Given the description of an element on the screen output the (x, y) to click on. 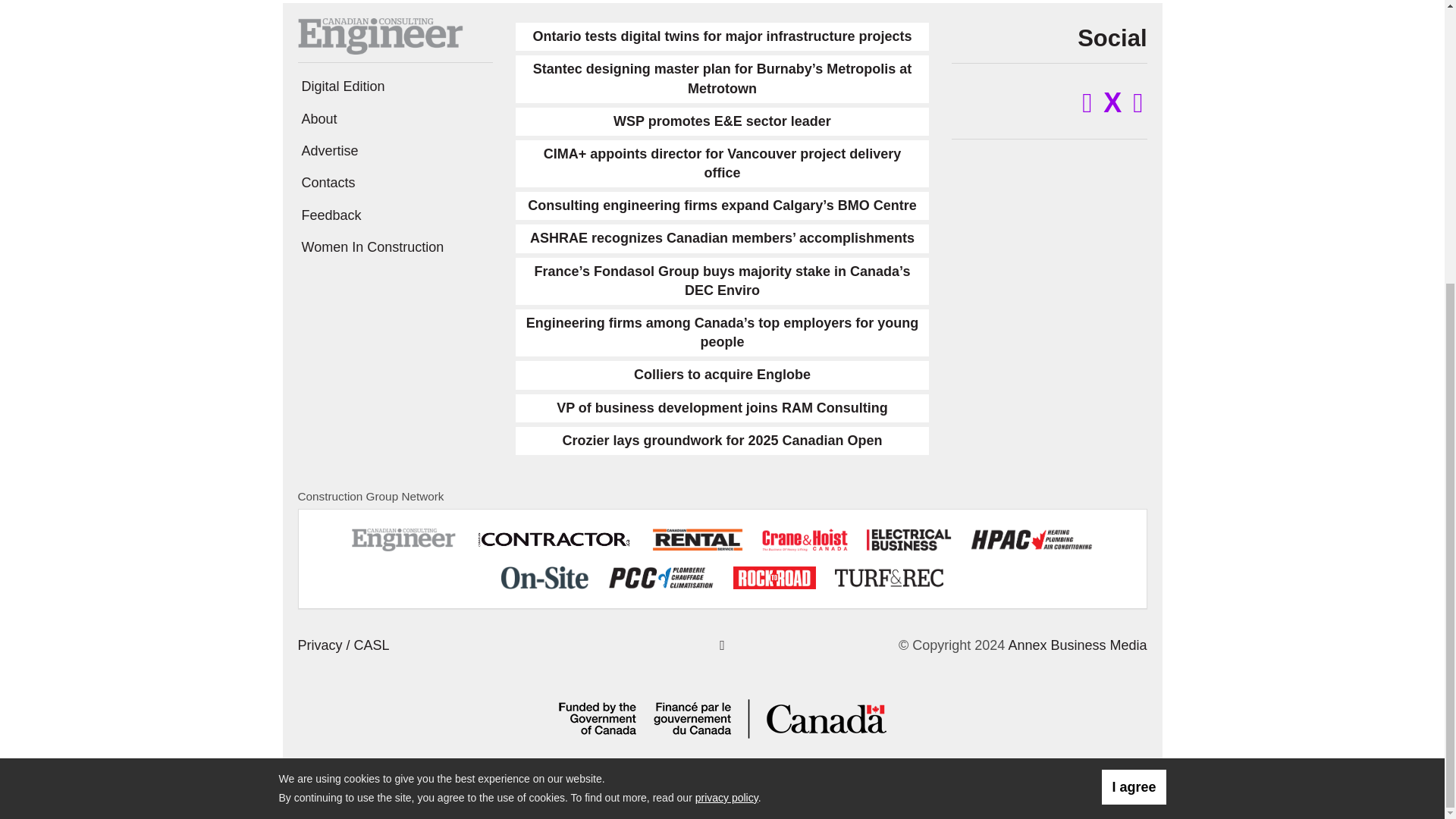
3rd party ad content (133, 97)
Annex Business Media (1077, 645)
Canadian Consulting Engineer (380, 35)
